Given the description of an element on the screen output the (x, y) to click on. 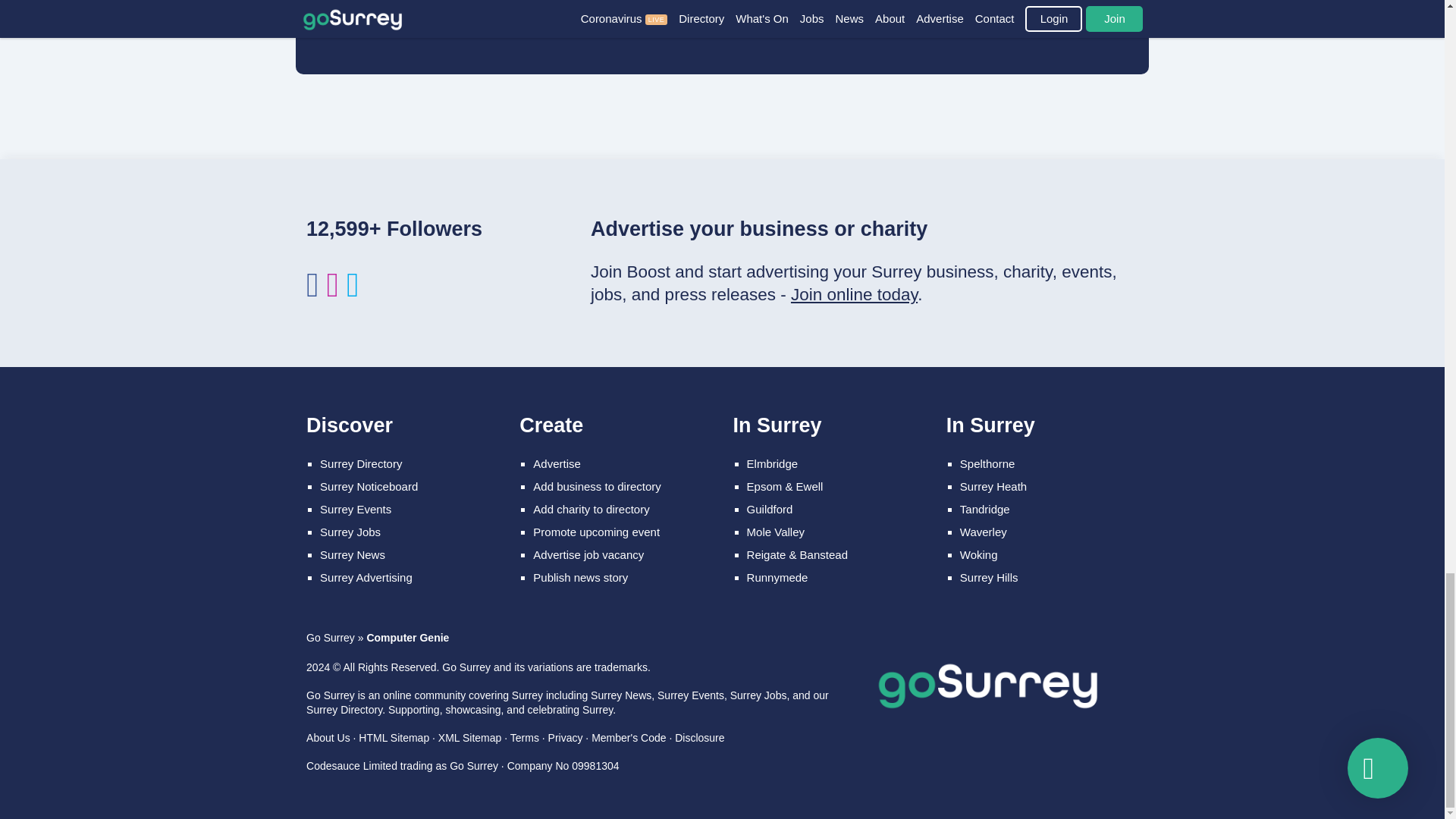
Twitter (352, 291)
Surrey Advertising (366, 576)
Instagram (331, 291)
Facebook (311, 291)
Surrey News (352, 554)
Add business to directory (596, 486)
Advertise (556, 463)
Surrey Events (355, 508)
Surrey Jobs (350, 531)
Surrey Noticeboard (368, 486)
Surrey Directory (360, 463)
Join online today (853, 294)
Add charity to directory (590, 508)
